Given the description of an element on the screen output the (x, y) to click on. 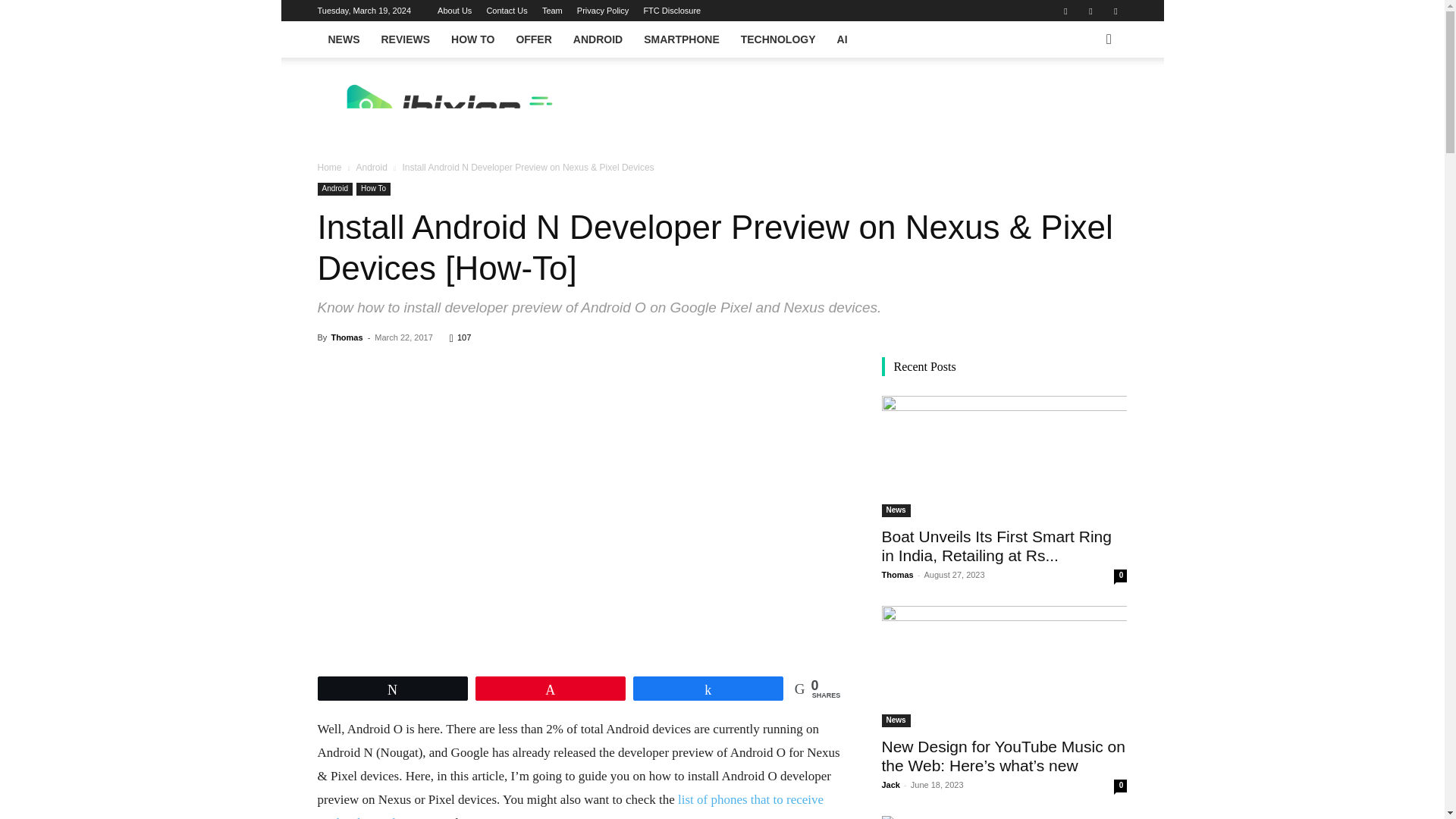
Contact Us (506, 10)
Twitter (1090, 10)
Youtube (1114, 10)
Facebook (1065, 10)
Privacy Policy (602, 10)
NEWS (343, 39)
Team (551, 10)
About Us (454, 10)
FTC Disclosure (671, 10)
